Given the description of an element on the screen output the (x, y) to click on. 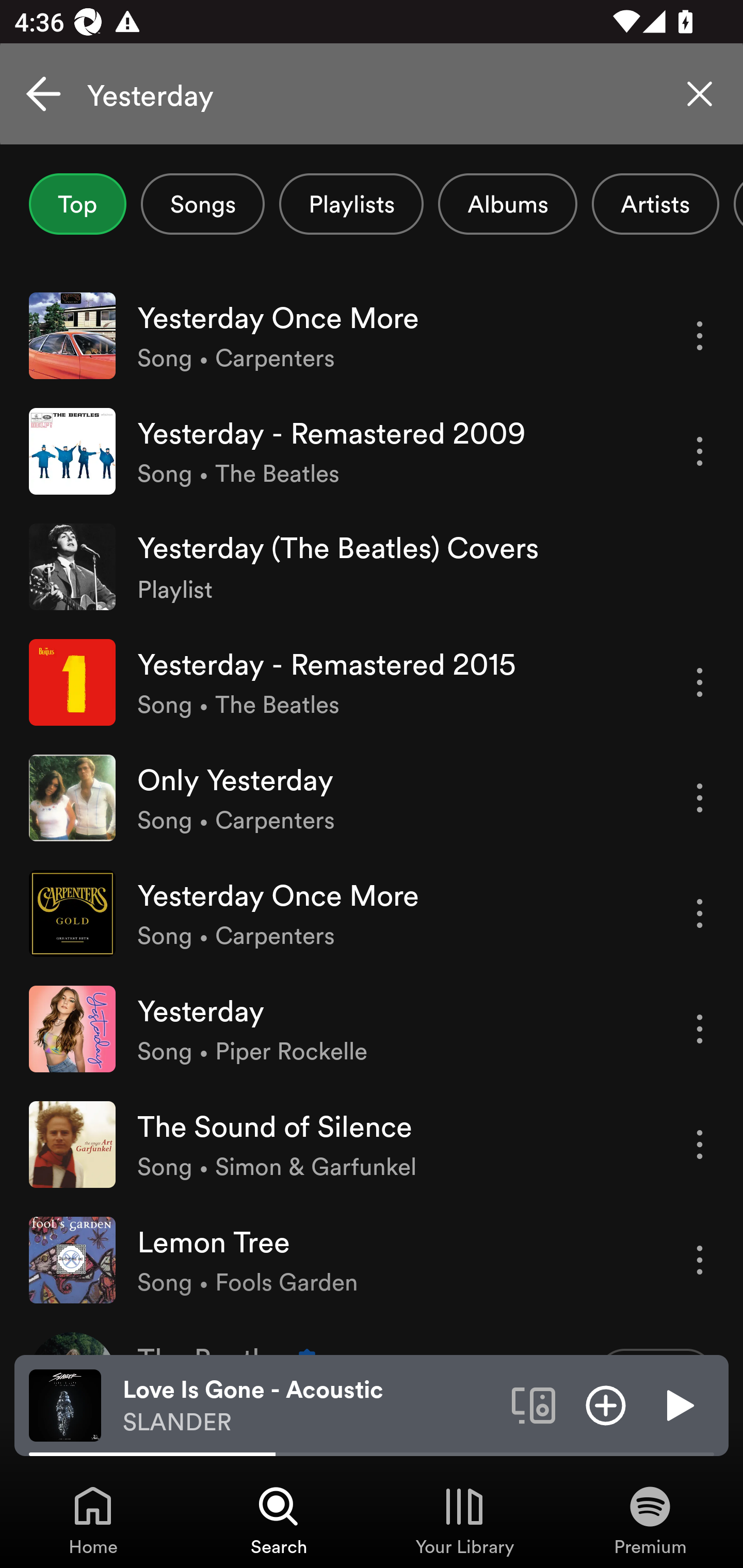
Yesterday (371, 93)
Cancel (43, 93)
Clear search query (699, 93)
Top (77, 203)
Songs (202, 203)
Playlists (351, 203)
Albums (507, 203)
Artists (655, 203)
More options for song Yesterday Once More (699, 336)
More options for song Yesterday - Remastered 2009 (699, 450)
Yesterday (The Beatles) Covers Playlist (371, 566)
More options for song Yesterday - Remastered 2015 (699, 682)
More options for song Only Yesterday (699, 798)
More options for song Yesterday Once More (699, 913)
More options for song Yesterday (699, 1029)
More options for song The Sound of Silence (699, 1144)
More options for song Lemon Tree (699, 1259)
Love Is Gone - Acoustic SLANDER (309, 1405)
The cover art of the currently playing track (64, 1404)
Connect to a device. Opens the devices menu (533, 1404)
Add item (605, 1404)
Play (677, 1404)
Home, Tab 1 of 4 Home Home (92, 1519)
Search, Tab 2 of 4 Search Search (278, 1519)
Your Library, Tab 3 of 4 Your Library Your Library (464, 1519)
Premium, Tab 4 of 4 Premium Premium (650, 1519)
